Given the description of an element on the screen output the (x, y) to click on. 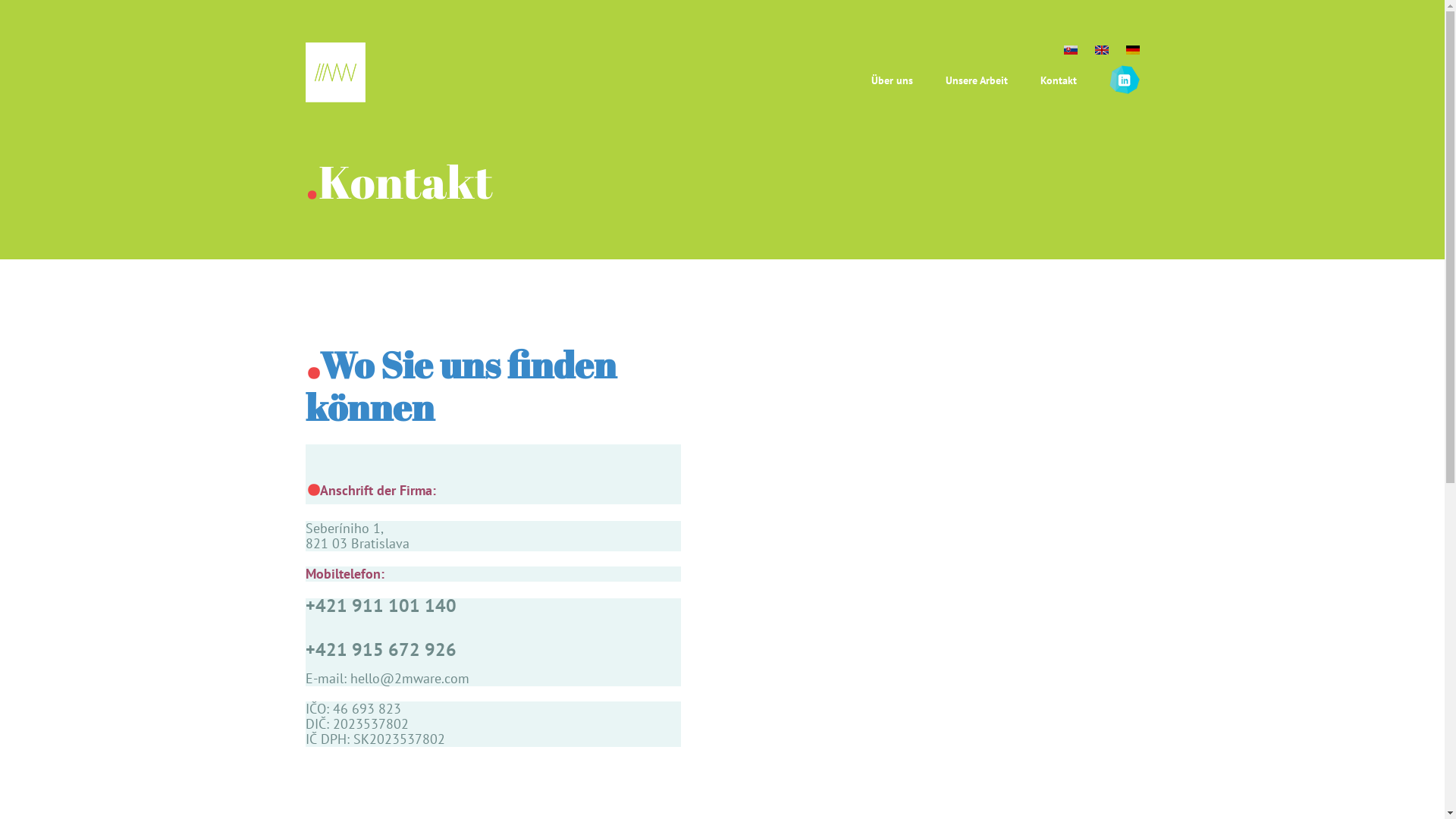
sk Element type: hover (1069, 49)
Unsere Arbeit Element type: text (975, 79)
de Element type: hover (1132, 49)
Kontakt Element type: text (1058, 79)
en Element type: hover (1101, 49)
